Given the description of an element on the screen output the (x, y) to click on. 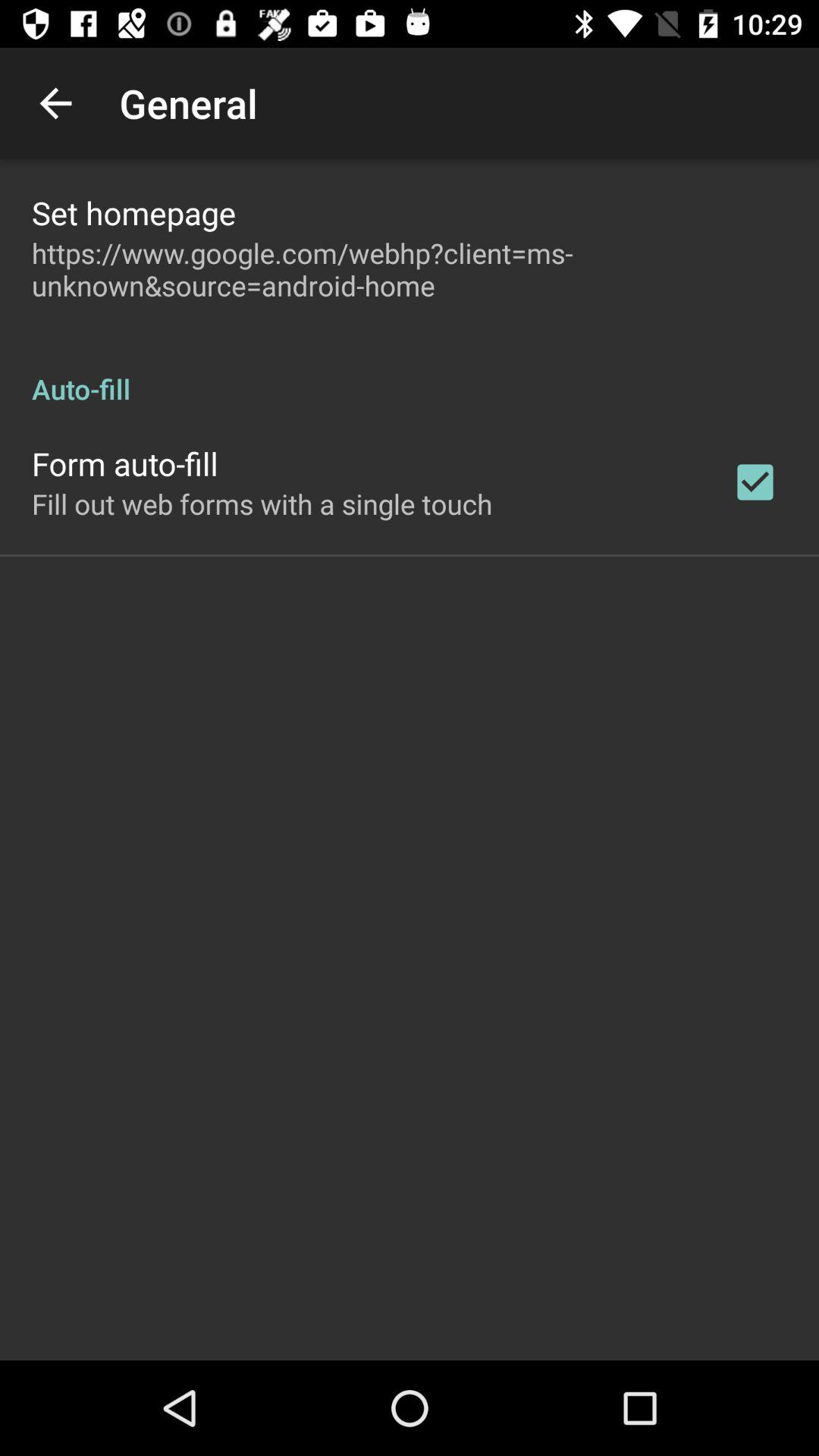
select the fill out web app (261, 503)
